Given the description of an element on the screen output the (x, y) to click on. 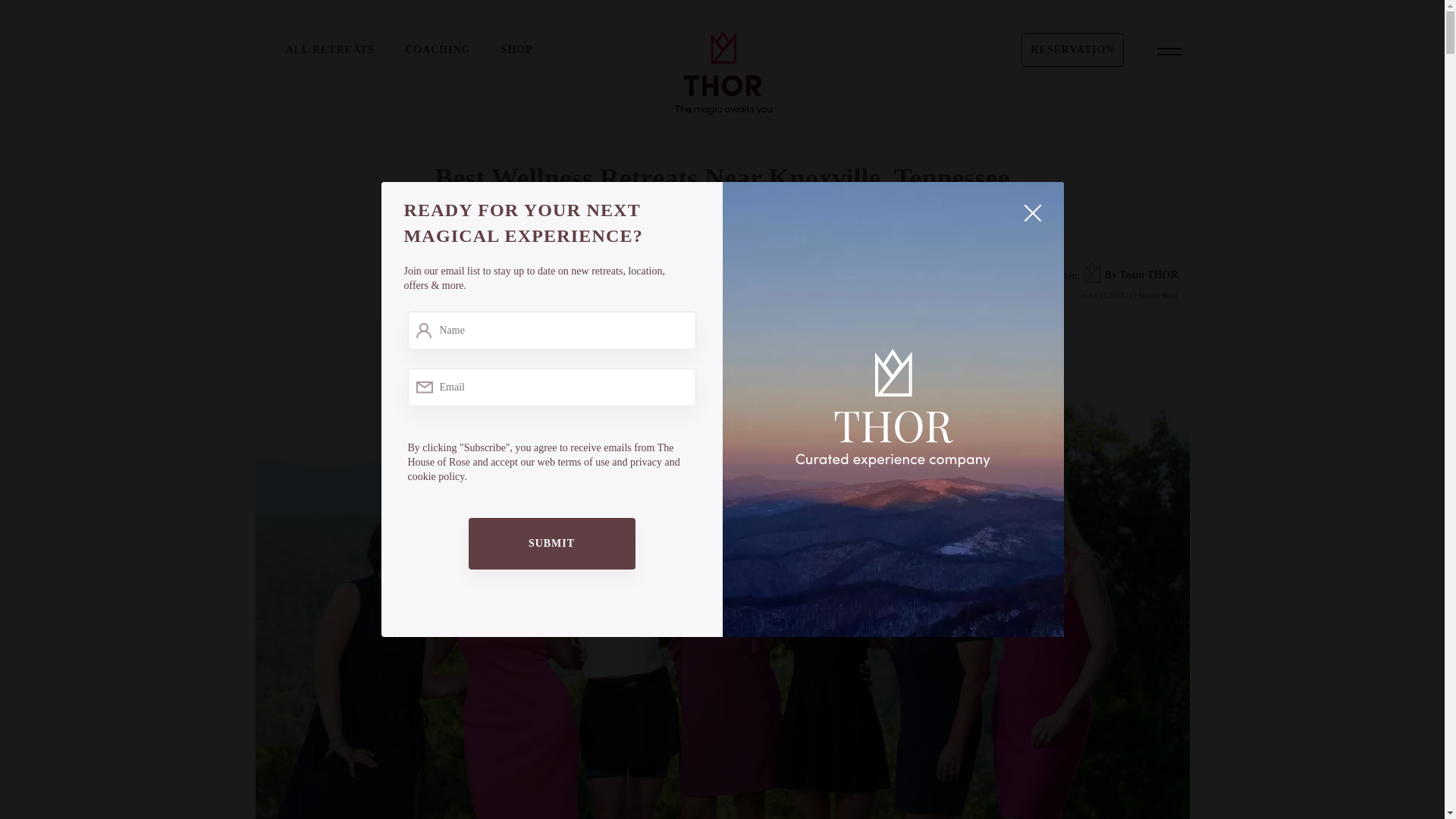
COACHING (437, 49)
ALL RETREATS (329, 49)
SHOP (516, 49)
RESERVATION (1072, 49)
Submit (551, 543)
